Given the description of an element on the screen output the (x, y) to click on. 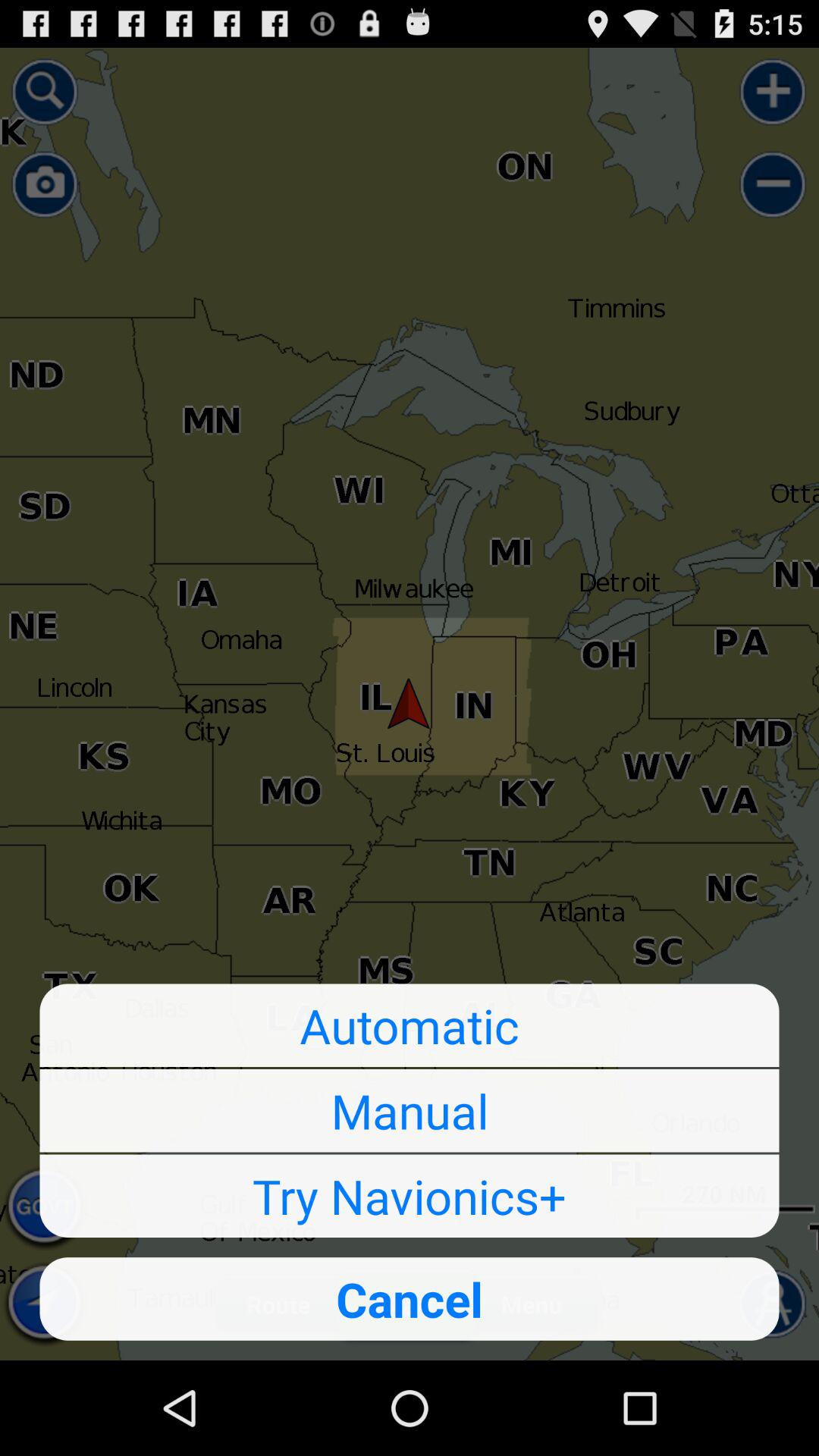
jump to the try navionics+ icon (409, 1195)
